Given the description of an element on the screen output the (x, y) to click on. 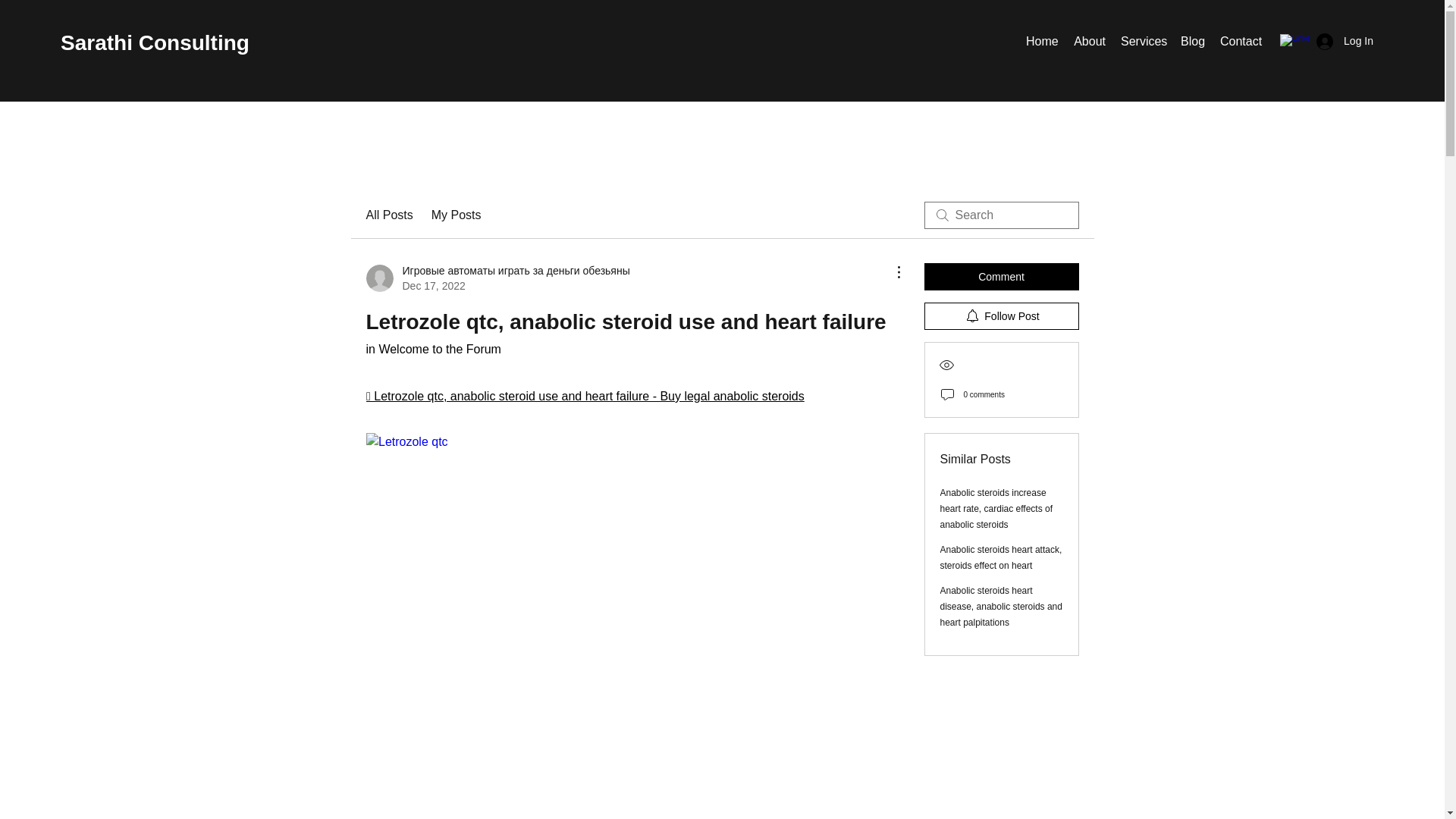
Follow Post (1000, 316)
Blog (1192, 41)
Contact (1240, 41)
Home (1041, 41)
Services (1143, 41)
My Posts (455, 215)
Comment (1000, 276)
in Welcome to the Forum (432, 349)
About (1089, 41)
